Given the description of an element on the screen output the (x, y) to click on. 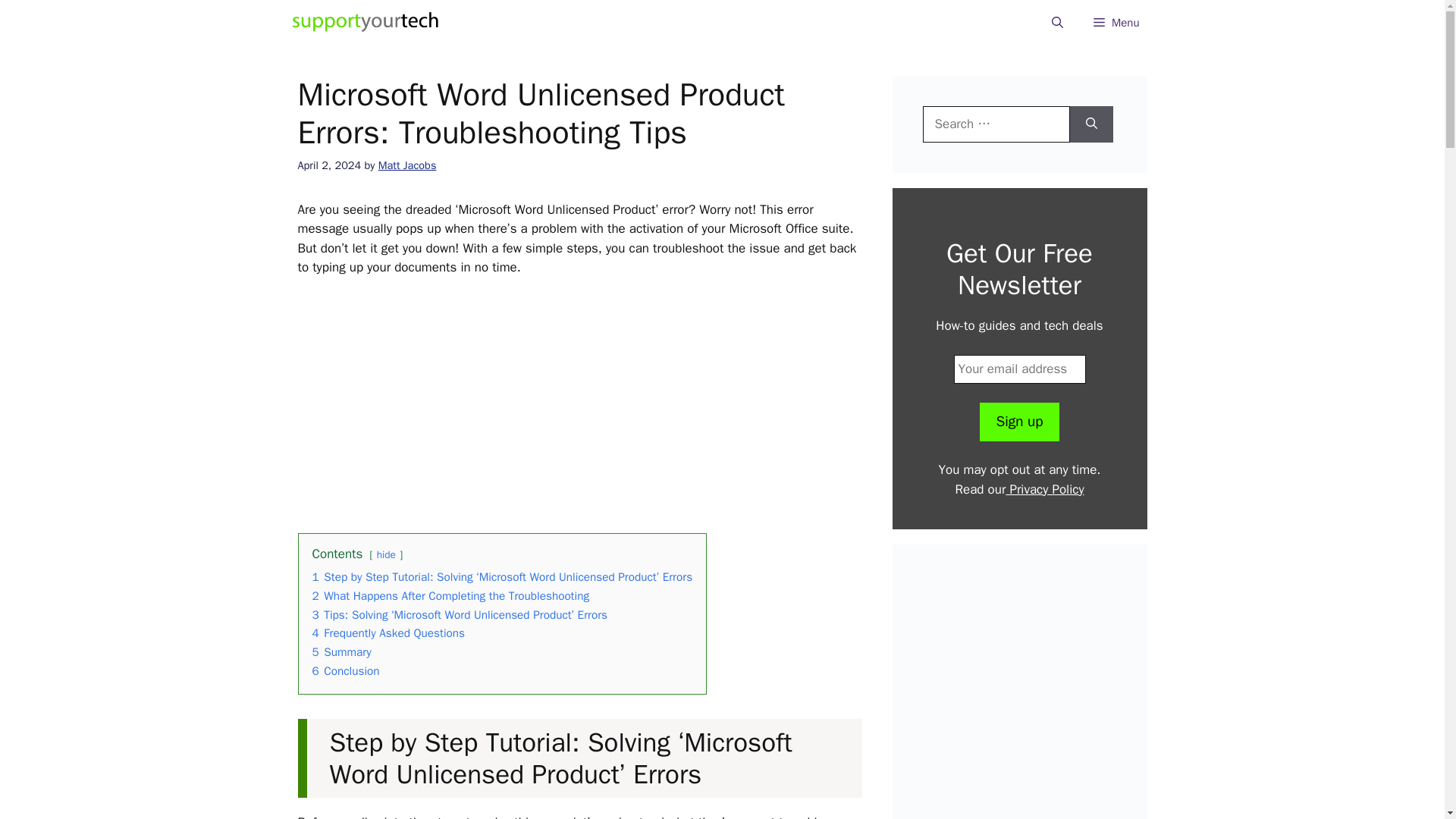
2 What Happens After Completing the Troubleshooting (451, 595)
Matt Jacobs (407, 164)
4 Frequently Asked Questions (389, 632)
hide (386, 554)
Sign up (1018, 421)
Advertisement (1030, 696)
Support Your Tech (365, 22)
Menu (1116, 22)
6 Conclusion (346, 670)
5 Summary (342, 652)
Advertisement (593, 402)
